Given the description of an element on the screen output the (x, y) to click on. 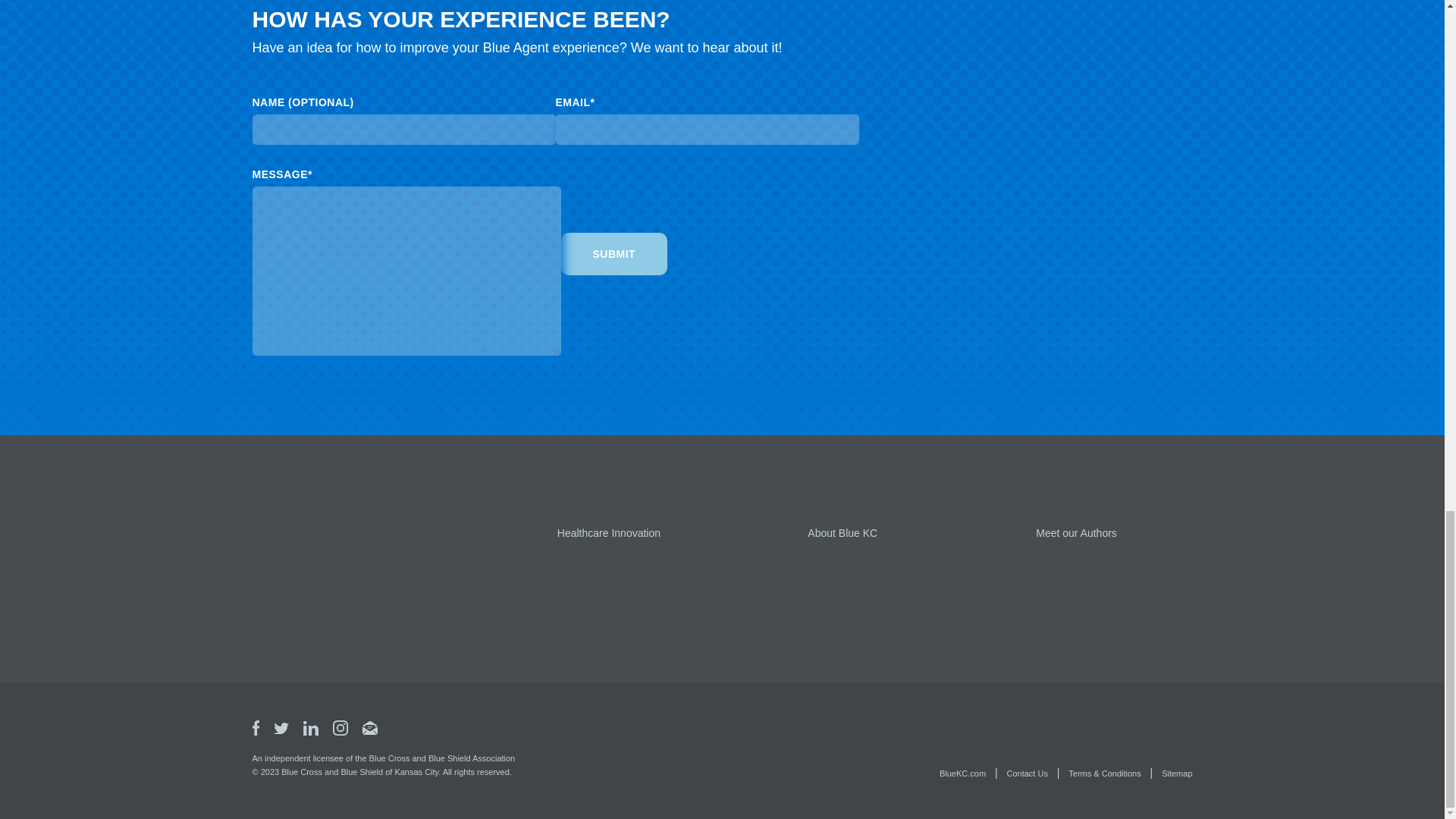
Submit (614, 253)
instagram (340, 727)
Meet our Authors (1075, 532)
email (369, 727)
twitter (280, 729)
linkedin (310, 728)
twitter (280, 728)
instagram (340, 731)
email (369, 730)
Submit (614, 253)
About Blue KC (842, 532)
Healthcare Innovation (609, 532)
linkedin (310, 731)
